Given the description of an element on the screen output the (x, y) to click on. 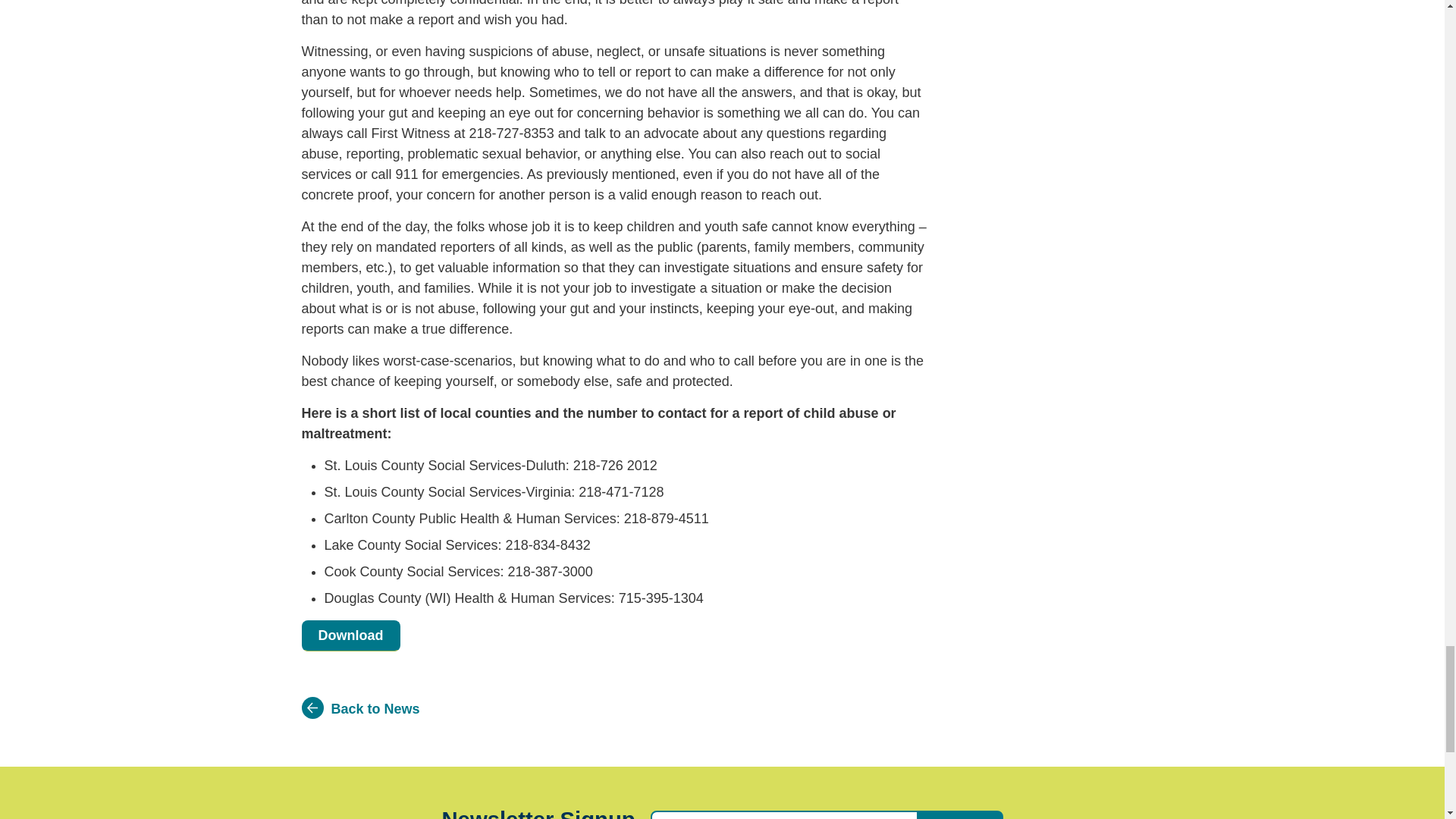
Sign Up (960, 814)
